Given the description of an element on the screen output the (x, y) to click on. 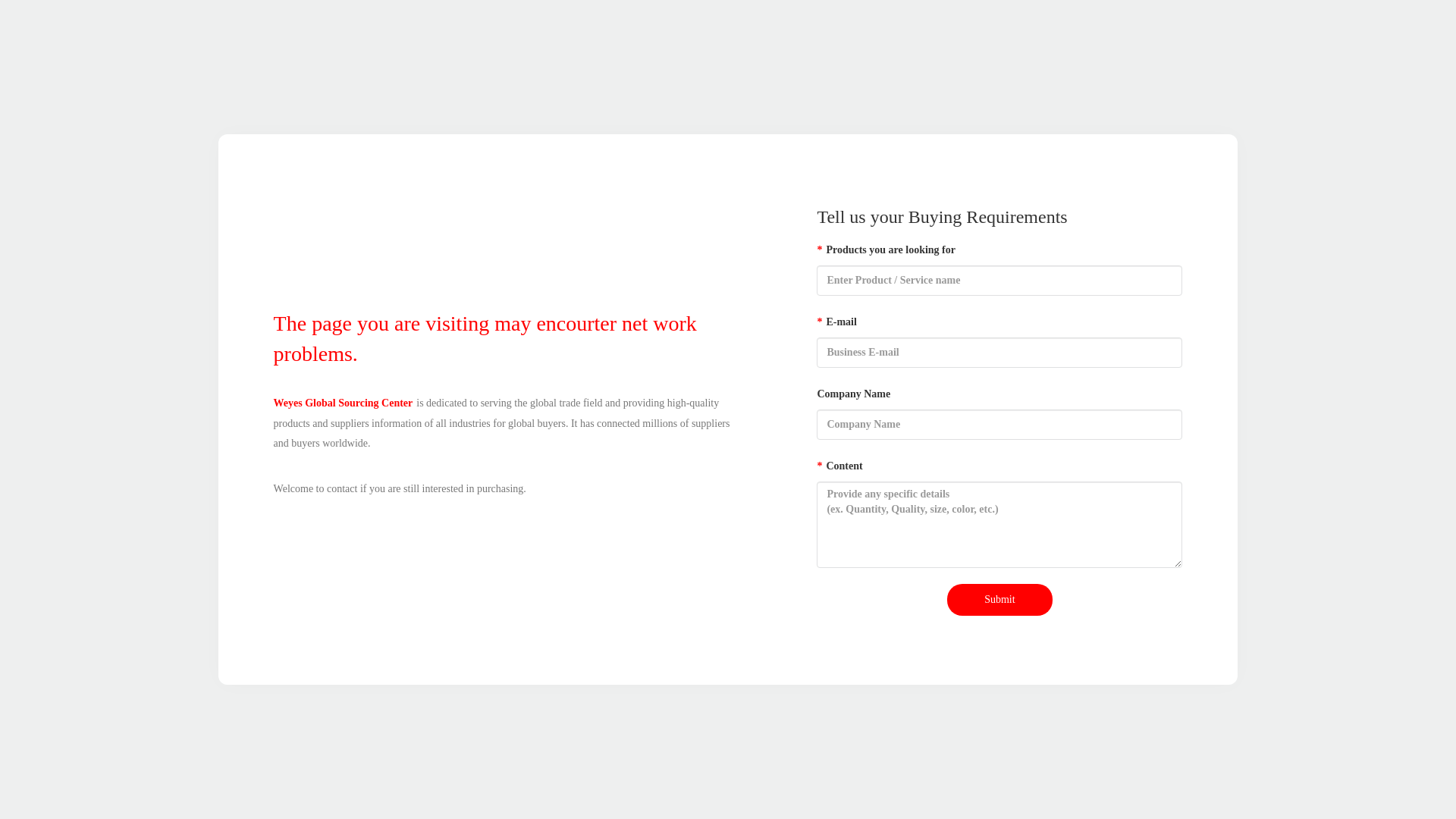
Submit (999, 599)
